Given the description of an element on the screen output the (x, y) to click on. 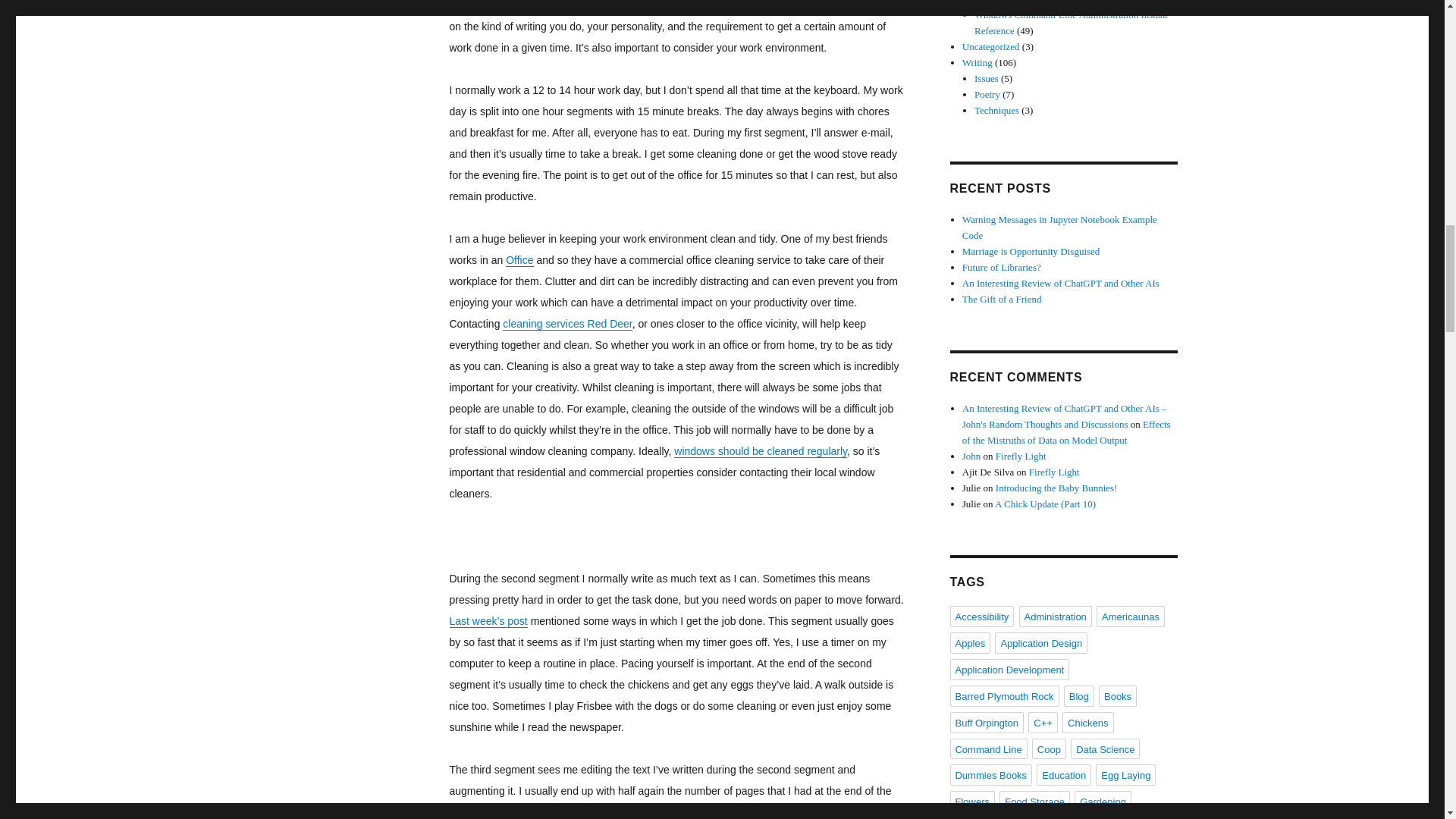
Working Hours (330, 2)
windows should be cleaned regularly (760, 451)
Writing (383, 2)
Office (518, 259)
cleaning services Red Deer (566, 323)
Work Week (319, 2)
